Given the description of an element on the screen output the (x, y) to click on. 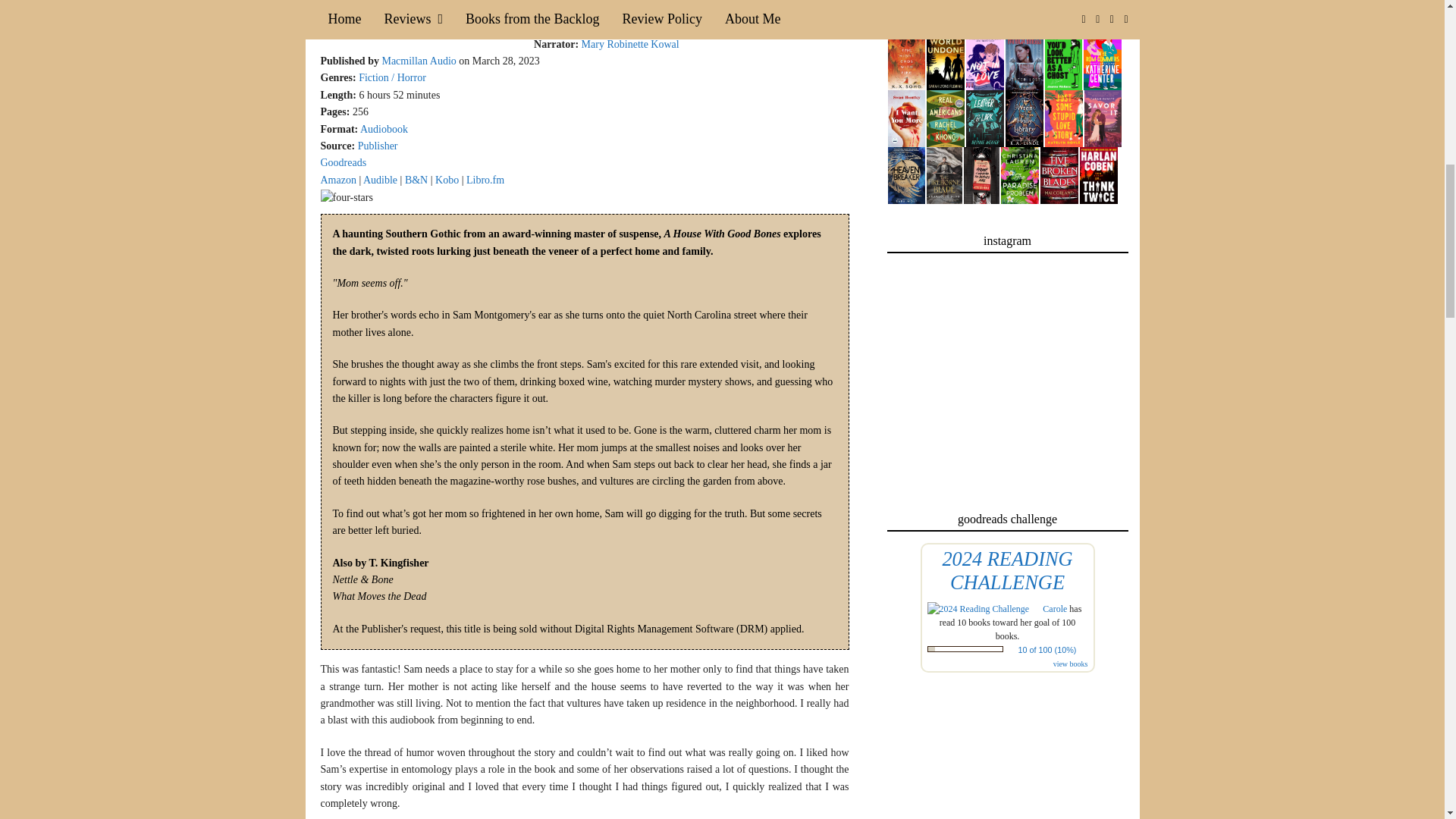
Publisher (377, 145)
Kobo (446, 179)
Mary Robinette Kowal (629, 43)
Goodreads (343, 162)
Macmillan Audio (418, 60)
Amazon (337, 179)
Libro.fm (484, 179)
T. Kingfisher (697, 26)
Audible (379, 179)
Audiobook (383, 129)
